Given the description of an element on the screen output the (x, y) to click on. 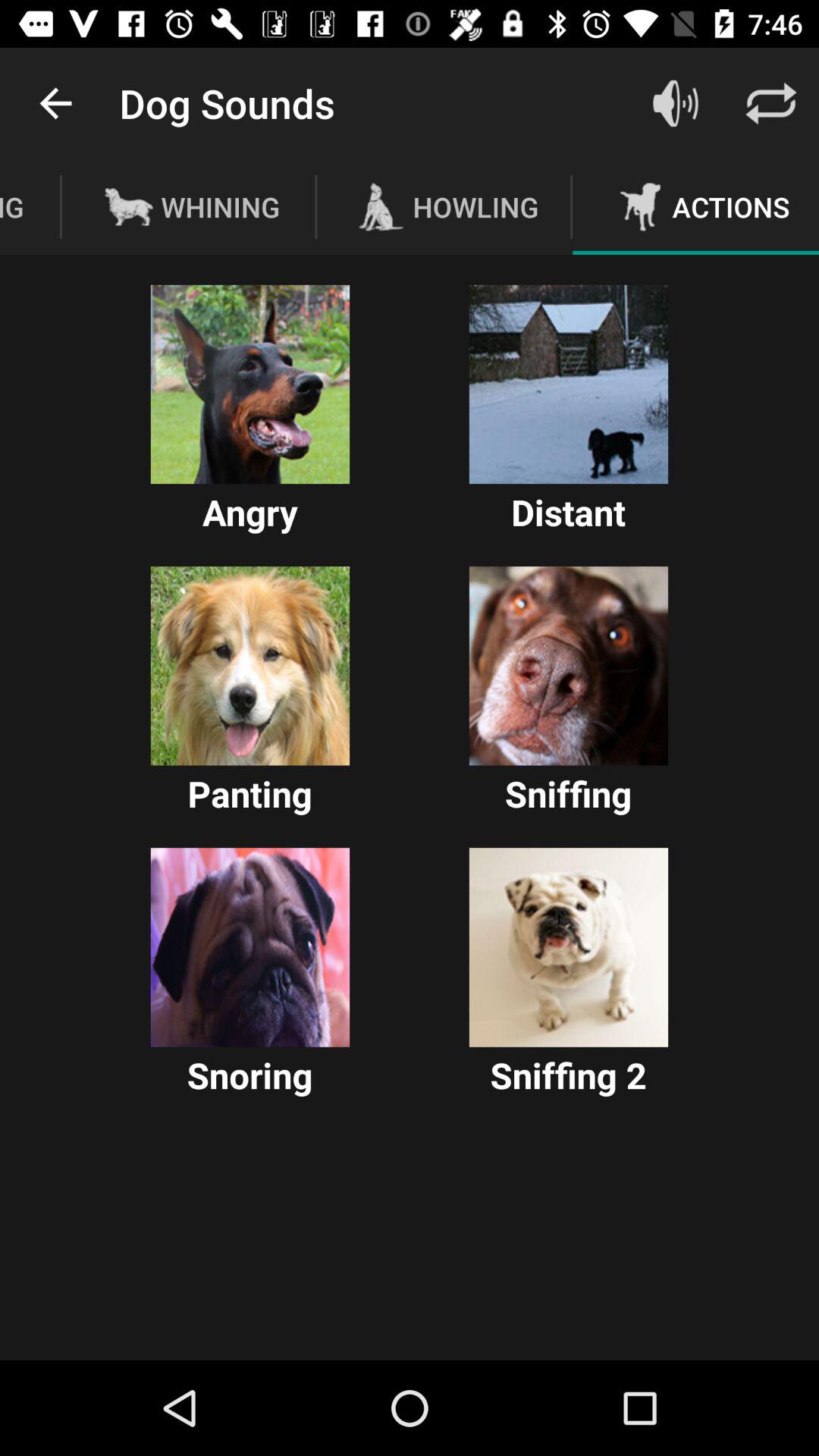
select snoring dog sound (249, 947)
